Given the description of an element on the screen output the (x, y) to click on. 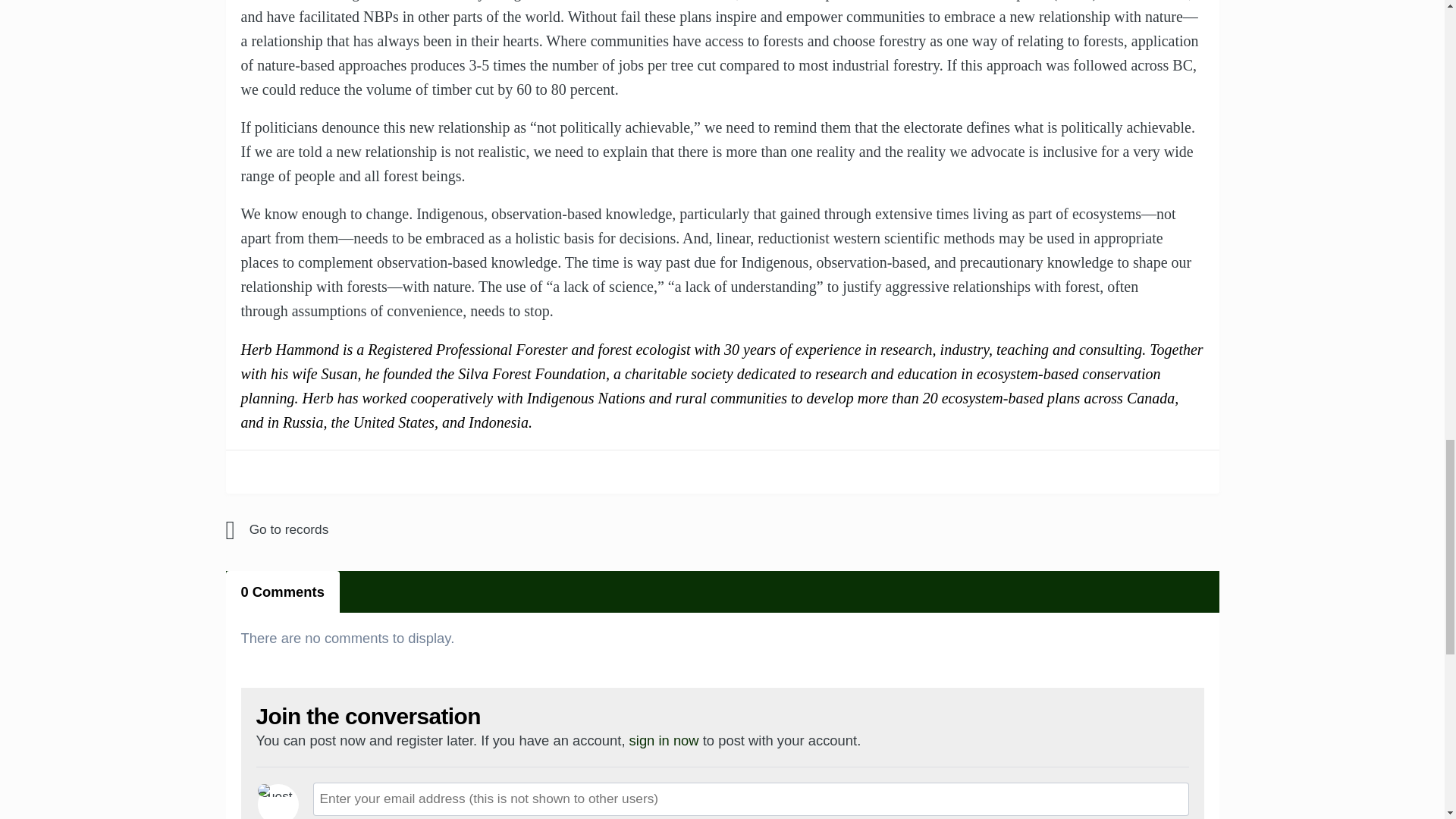
Go to Portal: Develop a new relationship with forests (358, 529)
0 Comments (282, 591)
